Given the description of an element on the screen output the (x, y) to click on. 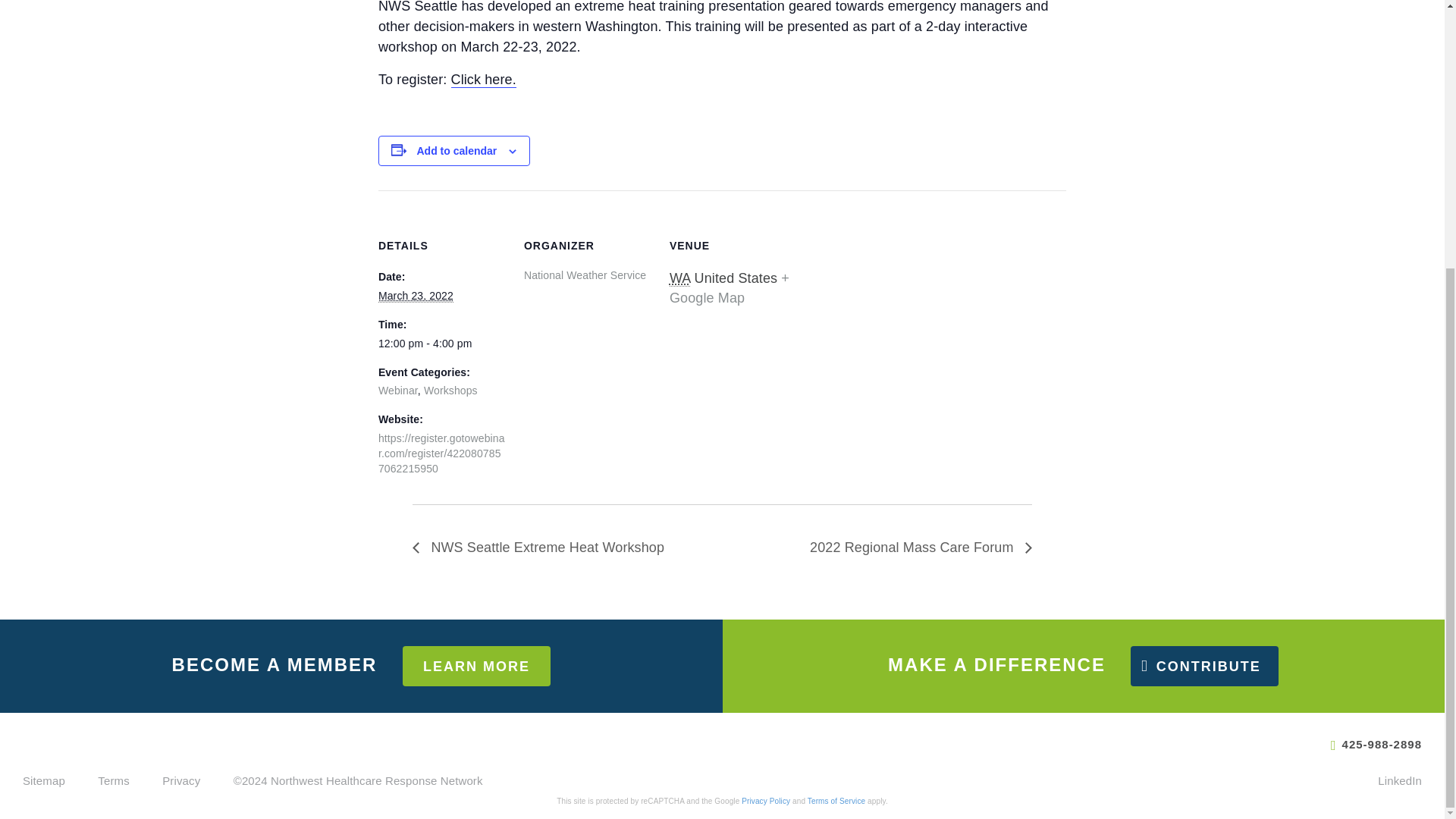
Workshops (450, 390)
National Weather Service (585, 275)
Google maps iframe displaying the address to  (895, 294)
National Weather Service (585, 275)
Click to view a Google Map (729, 288)
Washington (679, 278)
Add to calendar (456, 150)
2022-03-23 (415, 295)
Webinar (397, 390)
Click here. (483, 79)
